Given the description of an element on the screen output the (x, y) to click on. 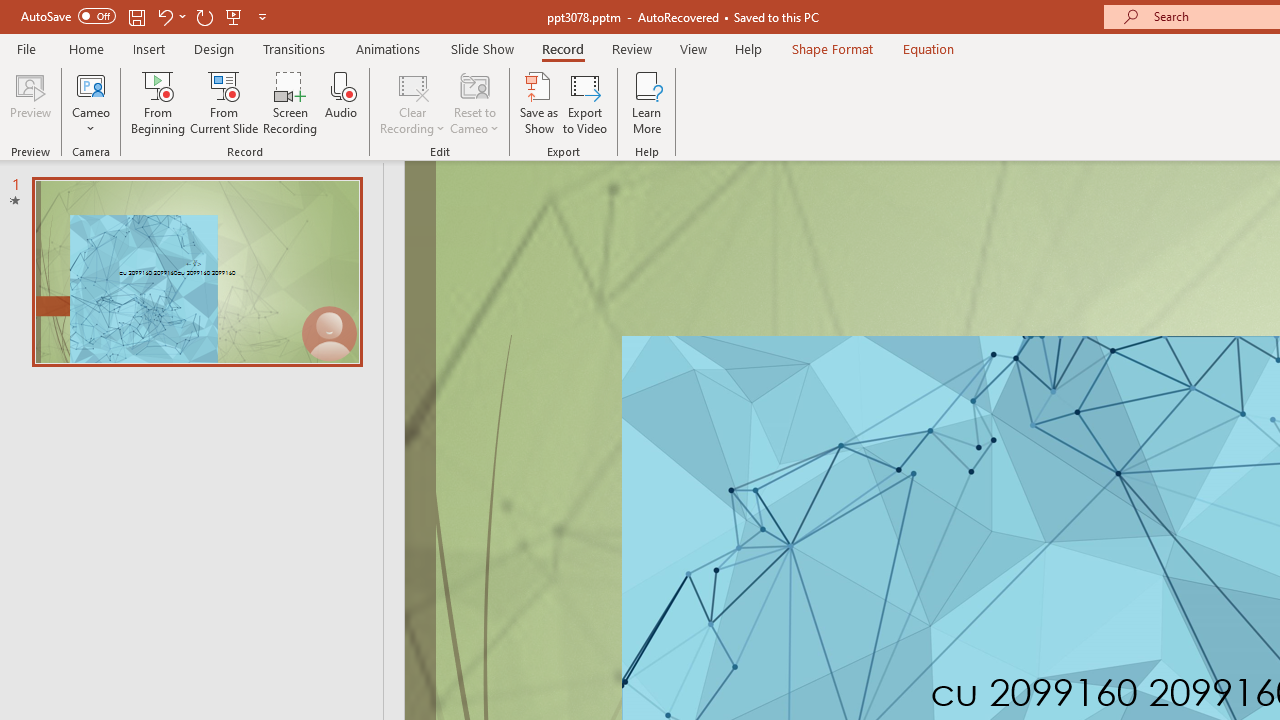
Shape Format (832, 48)
Audio (341, 102)
From Beginning... (158, 102)
